Given the description of an element on the screen output the (x, y) to click on. 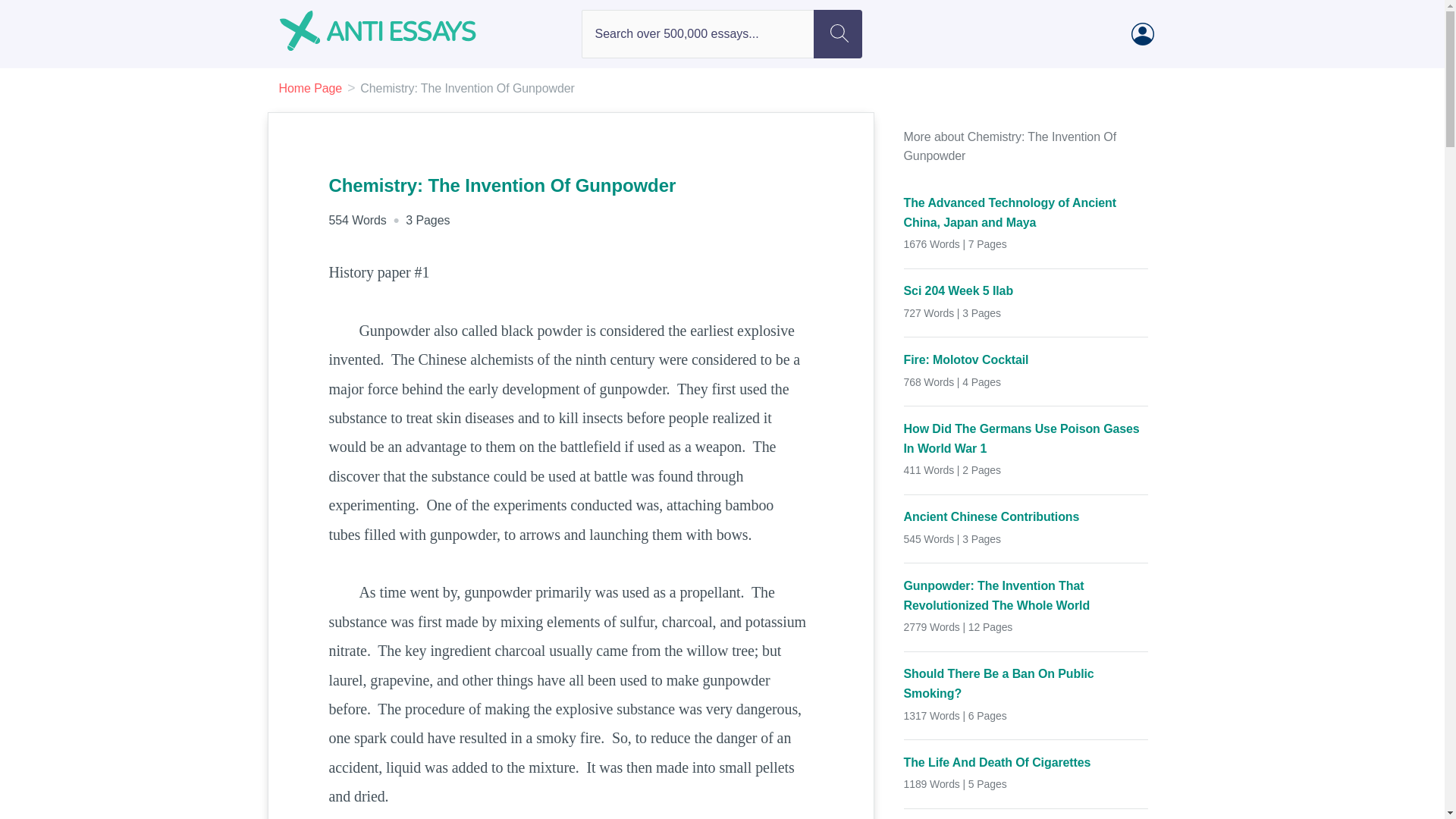
Sci 204 Week 5 Ilab (1026, 291)
Fire: Molotov Cocktail (1026, 360)
Should There Be a Ban On Public Smoking? (1026, 683)
The Life And Death Of Cigarettes (1026, 762)
How Did The Germans Use Poison Gases In World War 1 (1026, 438)
Gunpowder: The Invention That Revolutionized The Whole World (1026, 595)
Home Page (310, 88)
The Advanced Technology of Ancient China, Japan and Maya (1026, 212)
Ancient Chinese Contributions (1026, 516)
